Given the description of an element on the screen output the (x, y) to click on. 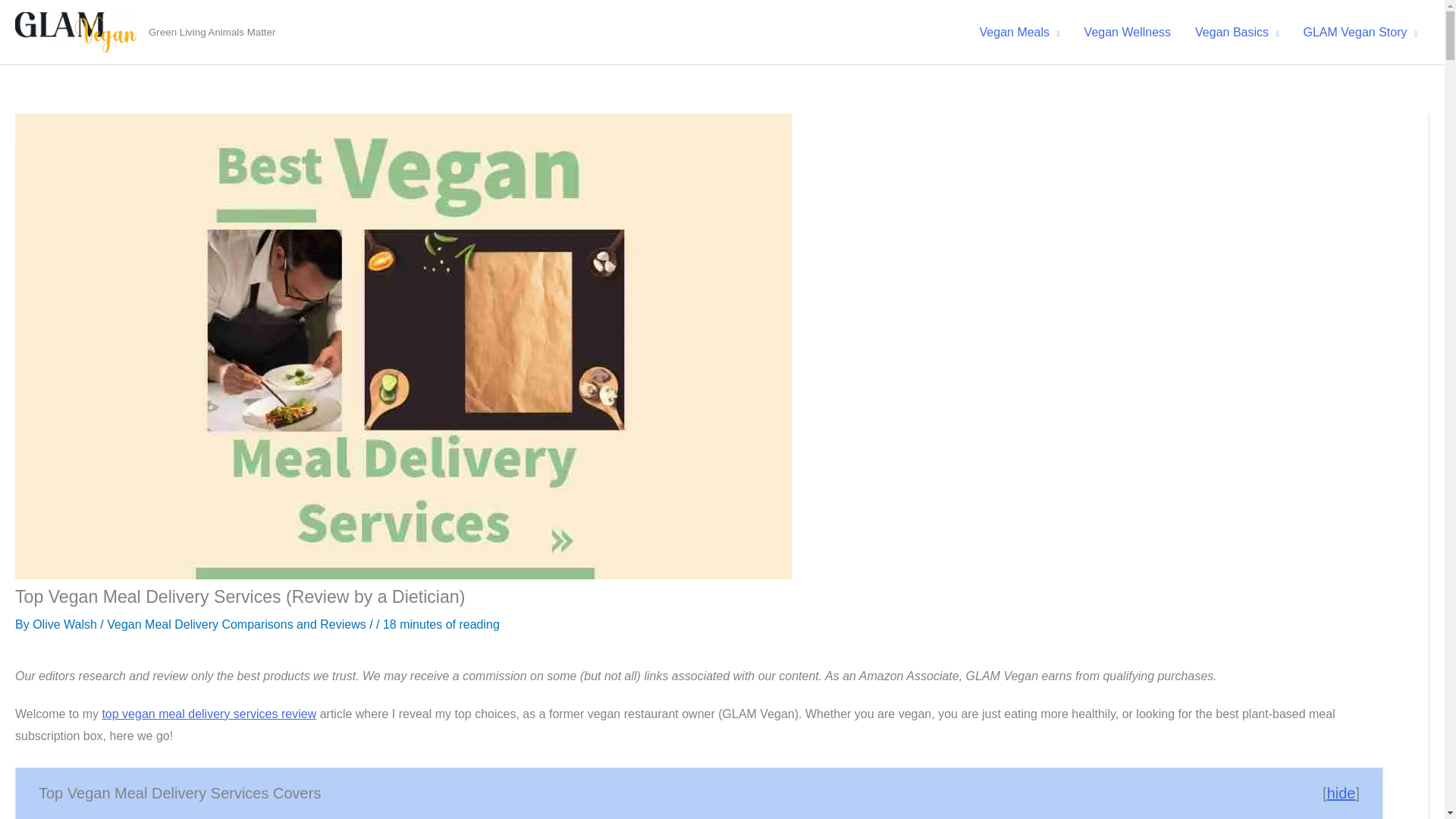
View all posts by Olive Walsh (66, 624)
Vegan Meals (1019, 31)
GLAM Vegan Story (1360, 31)
Vegan Meal Delivery Comparisons and Reviews (236, 624)
top vegan meal delivery services review (208, 713)
Vegan Basics (1236, 31)
Olive Walsh (66, 624)
Vegan Wellness (1126, 31)
hide (1340, 792)
